Given the description of an element on the screen output the (x, y) to click on. 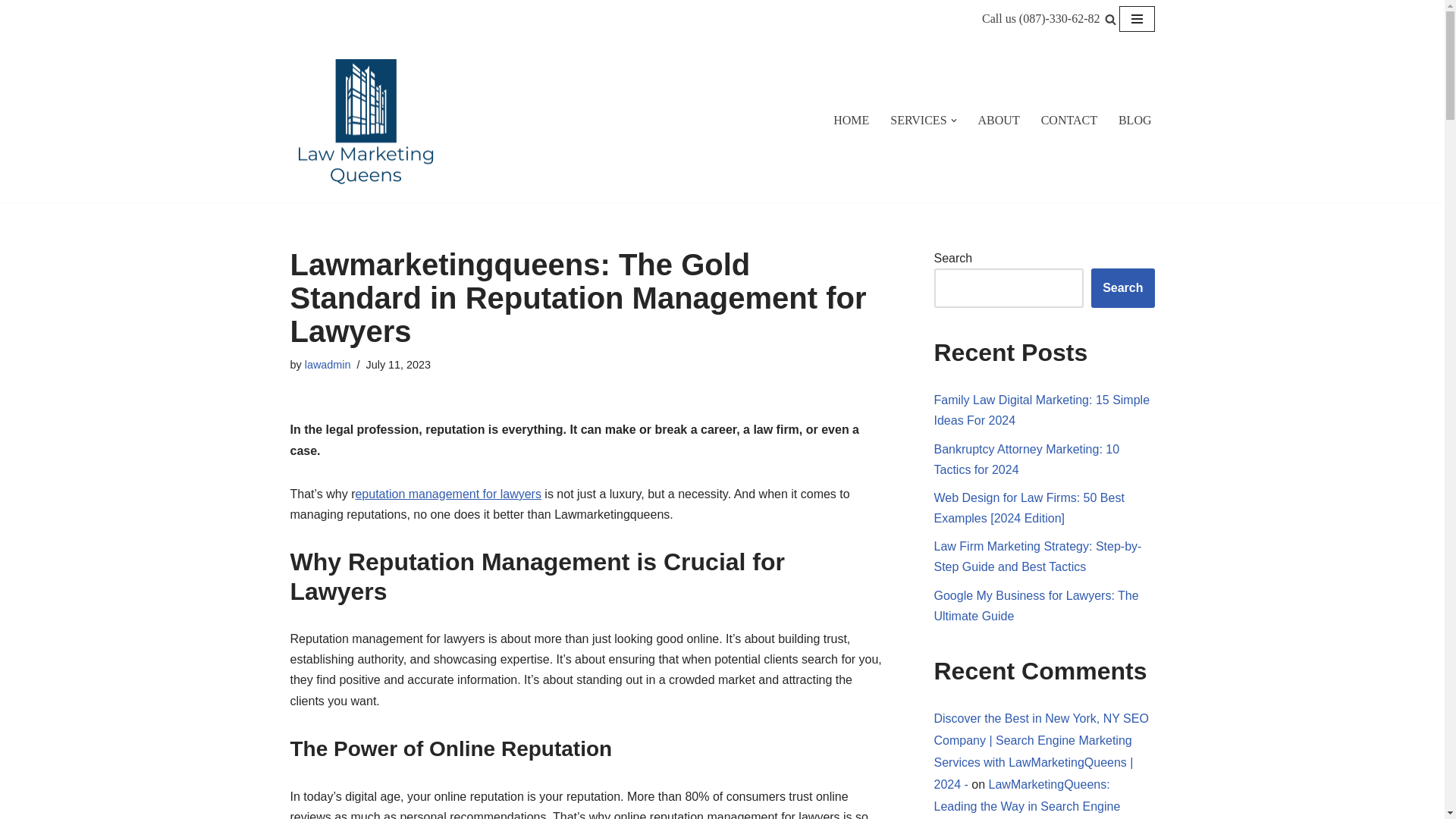
HOME (850, 119)
ABOUT (999, 119)
SERVICES (917, 119)
Skip to content (11, 31)
Navigation Menu (1136, 18)
Posts by lawadmin (327, 364)
eputation management for lawyers (447, 493)
CONTACT (1069, 119)
Search (1122, 287)
lawadmin (327, 364)
